Given the description of an element on the screen output the (x, y) to click on. 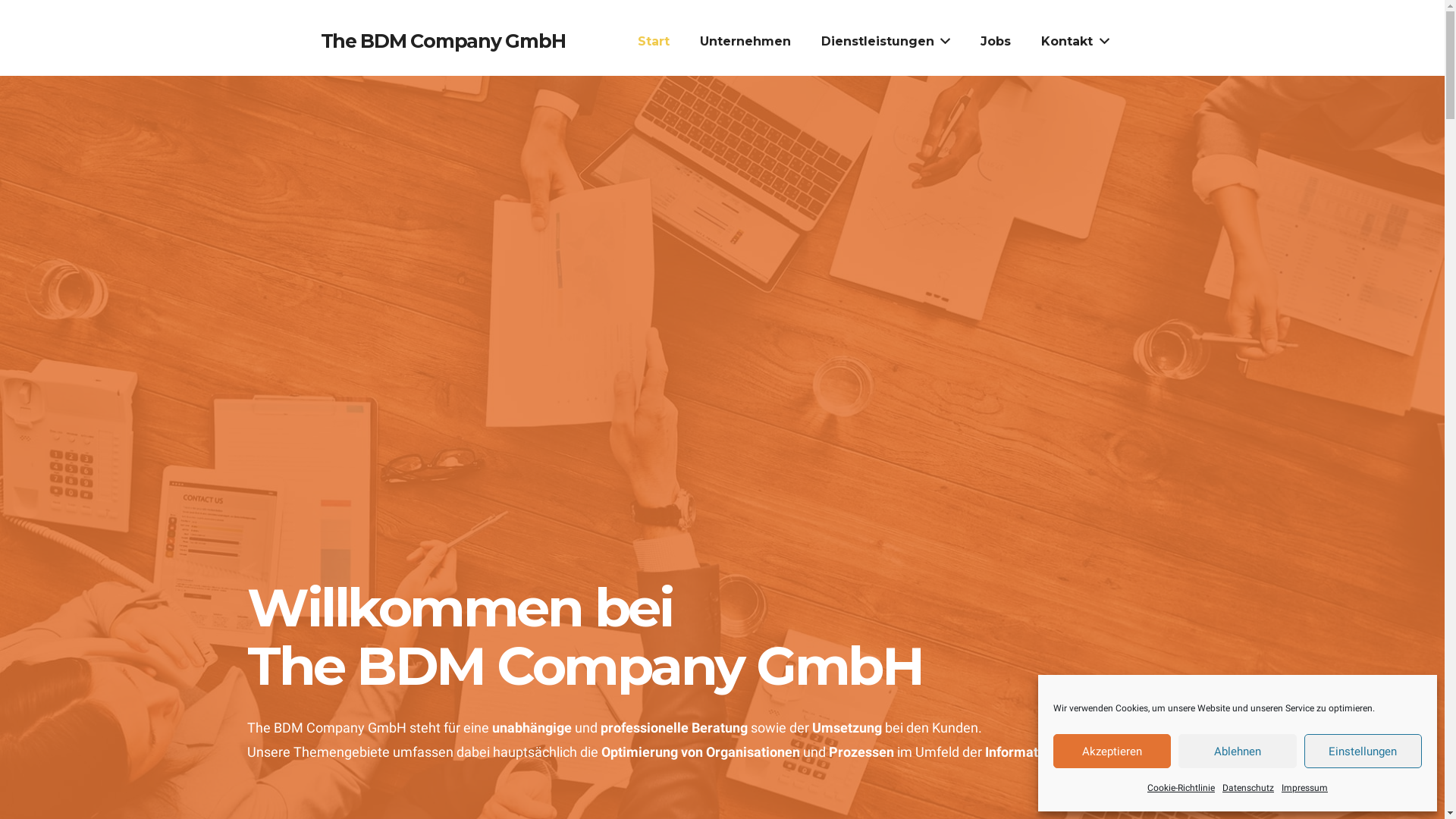
Ablehnen Element type: text (1236, 751)
Cookie-Richtlinie Element type: text (1180, 787)
Start Element type: text (653, 41)
Jobs Element type: text (995, 41)
Impressum Element type: text (1304, 787)
Akzeptieren Element type: text (1111, 751)
Dienstleistungen Element type: text (885, 41)
Unternehmen Element type: text (745, 41)
Kontakt Element type: text (1074, 41)
Einstellungen Element type: text (1362, 751)
The BDM Company GmbH Element type: text (442, 40)
Datenschutz Element type: text (1248, 787)
